Given the description of an element on the screen output the (x, y) to click on. 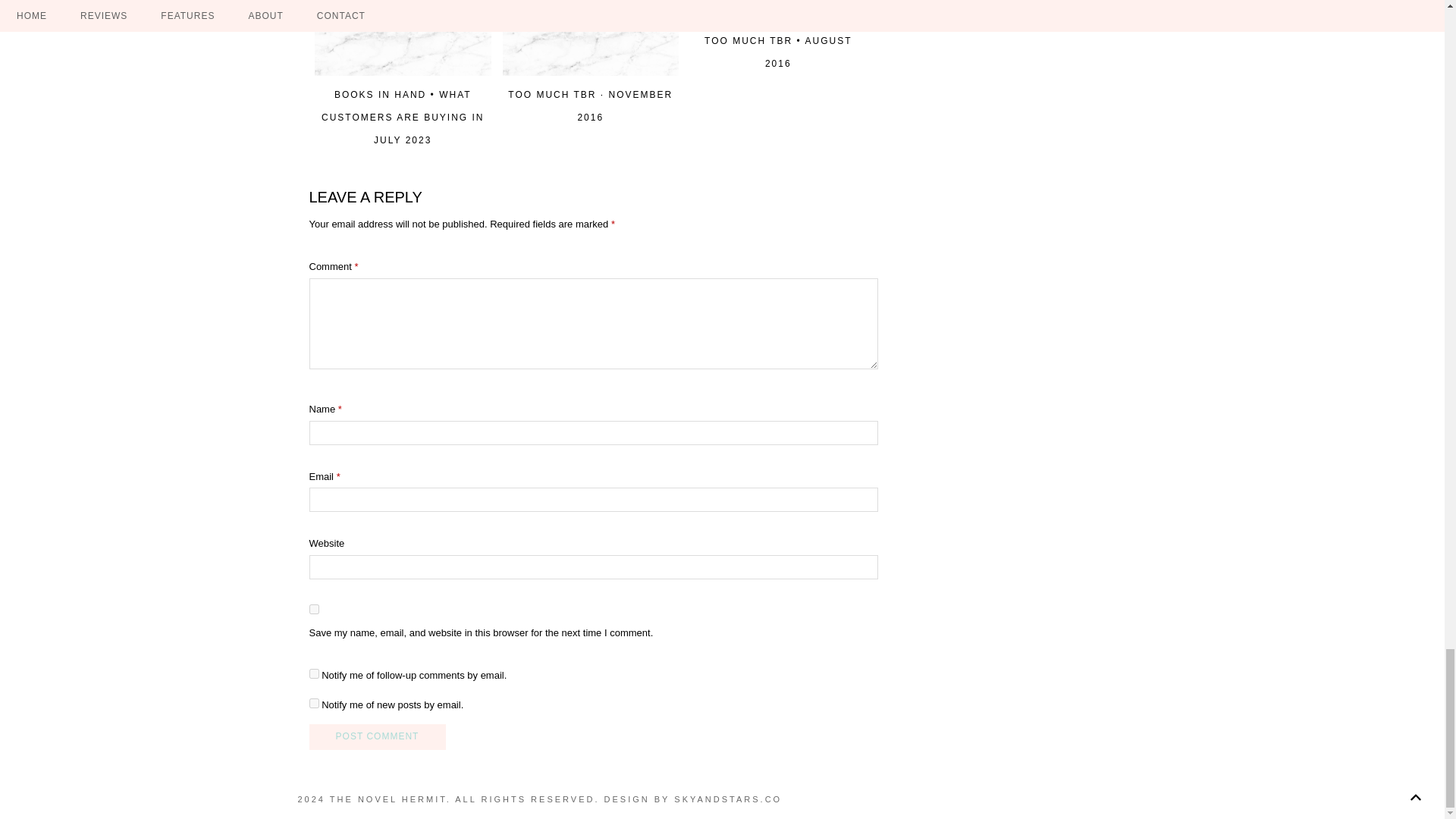
Post Comment (376, 736)
subscribe (313, 673)
subscribe (313, 703)
yes (313, 609)
